Given the description of an element on the screen output the (x, y) to click on. 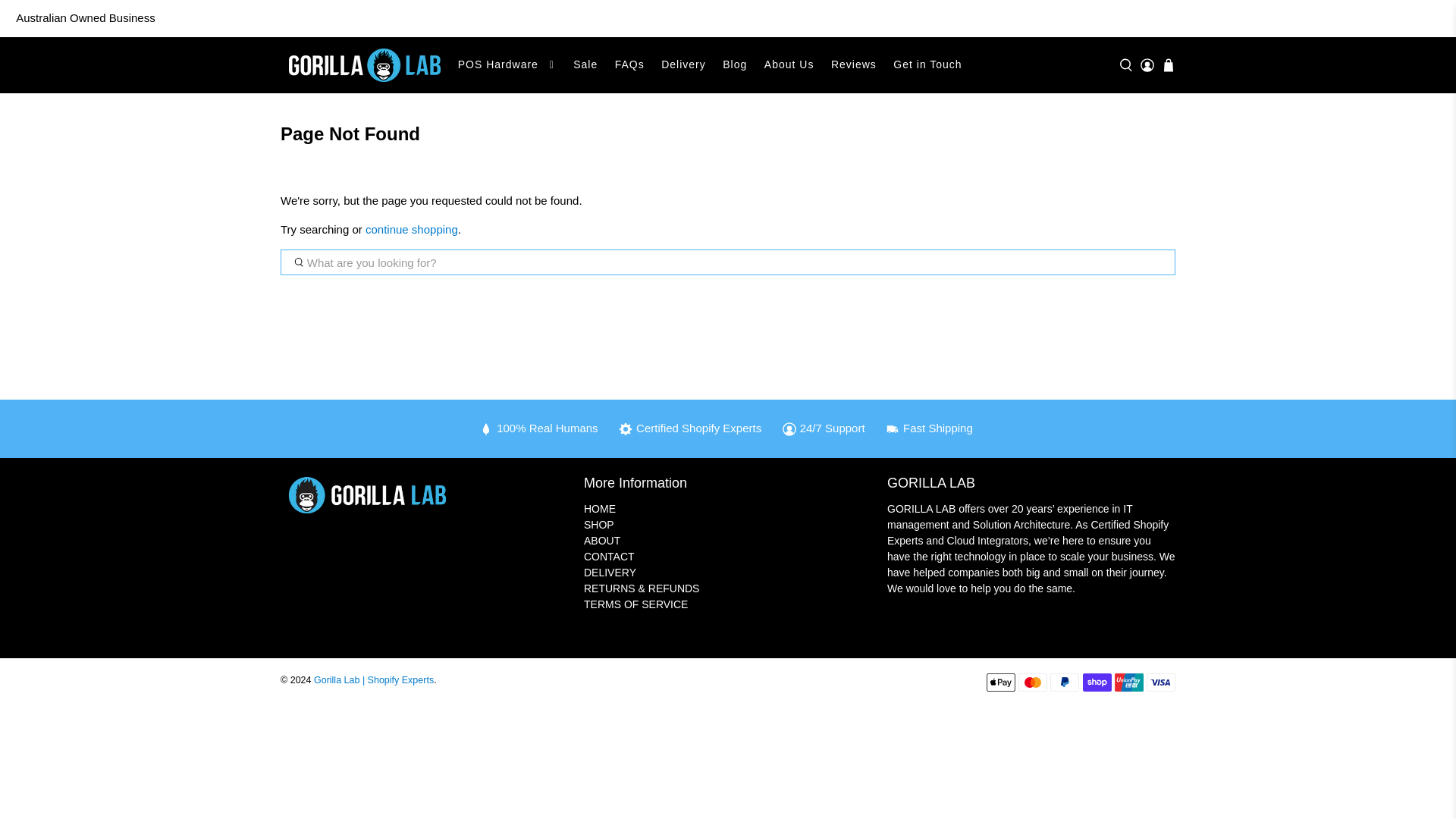
HOME (599, 508)
Visa (1160, 682)
PayPal (1063, 682)
Mastercard (1031, 682)
continue shopping (411, 228)
Apple Pay (1000, 682)
Sale (585, 64)
Get in Touch (928, 64)
Union Pay (1128, 682)
Shop Pay (1097, 682)
Delivery (683, 64)
Blog (734, 64)
Reviews (853, 64)
FAQs (628, 64)
POS Hardware (506, 64)
